Given the description of an element on the screen output the (x, y) to click on. 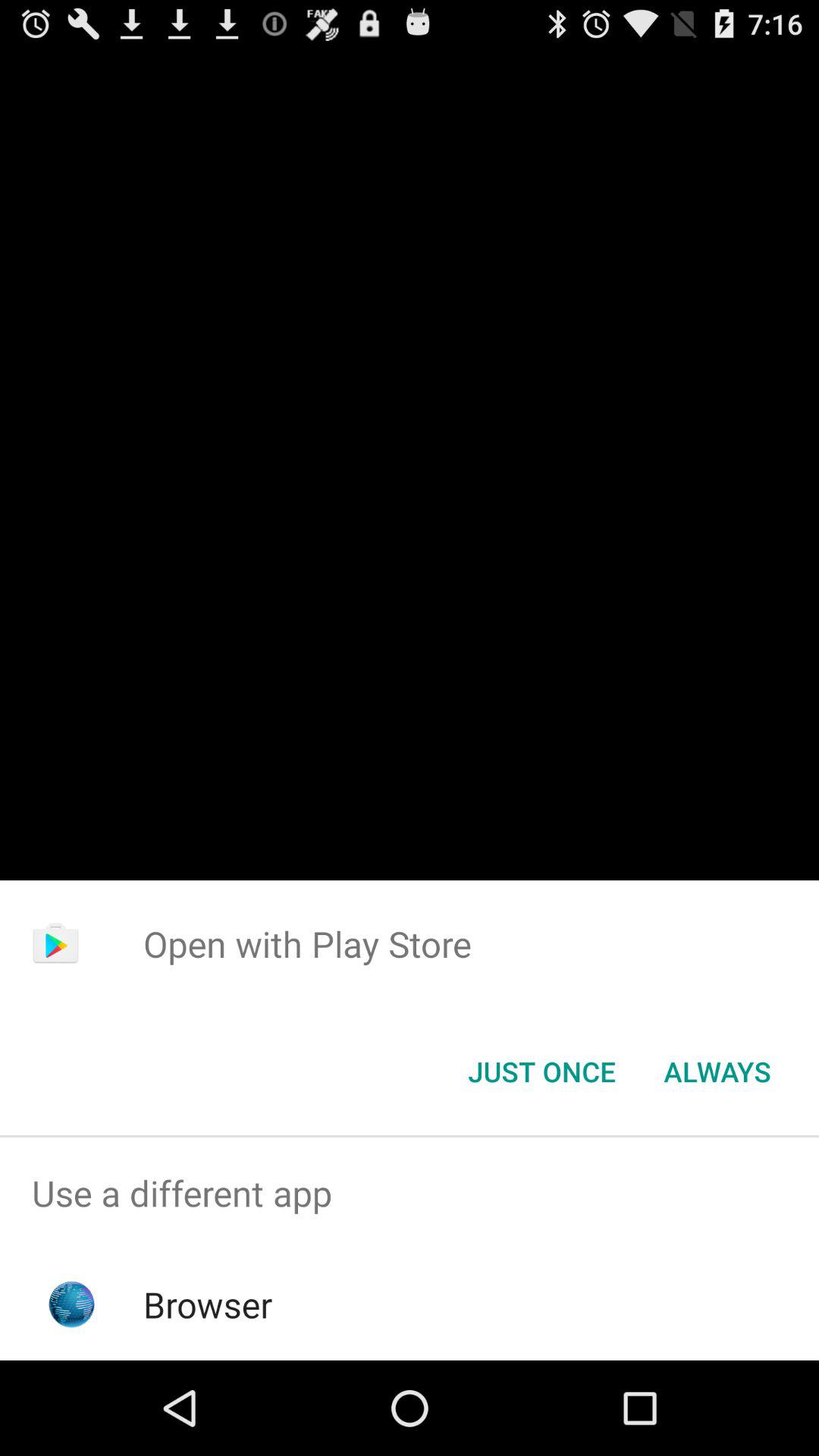
launch item below the open with play item (717, 1071)
